Given the description of an element on the screen output the (x, y) to click on. 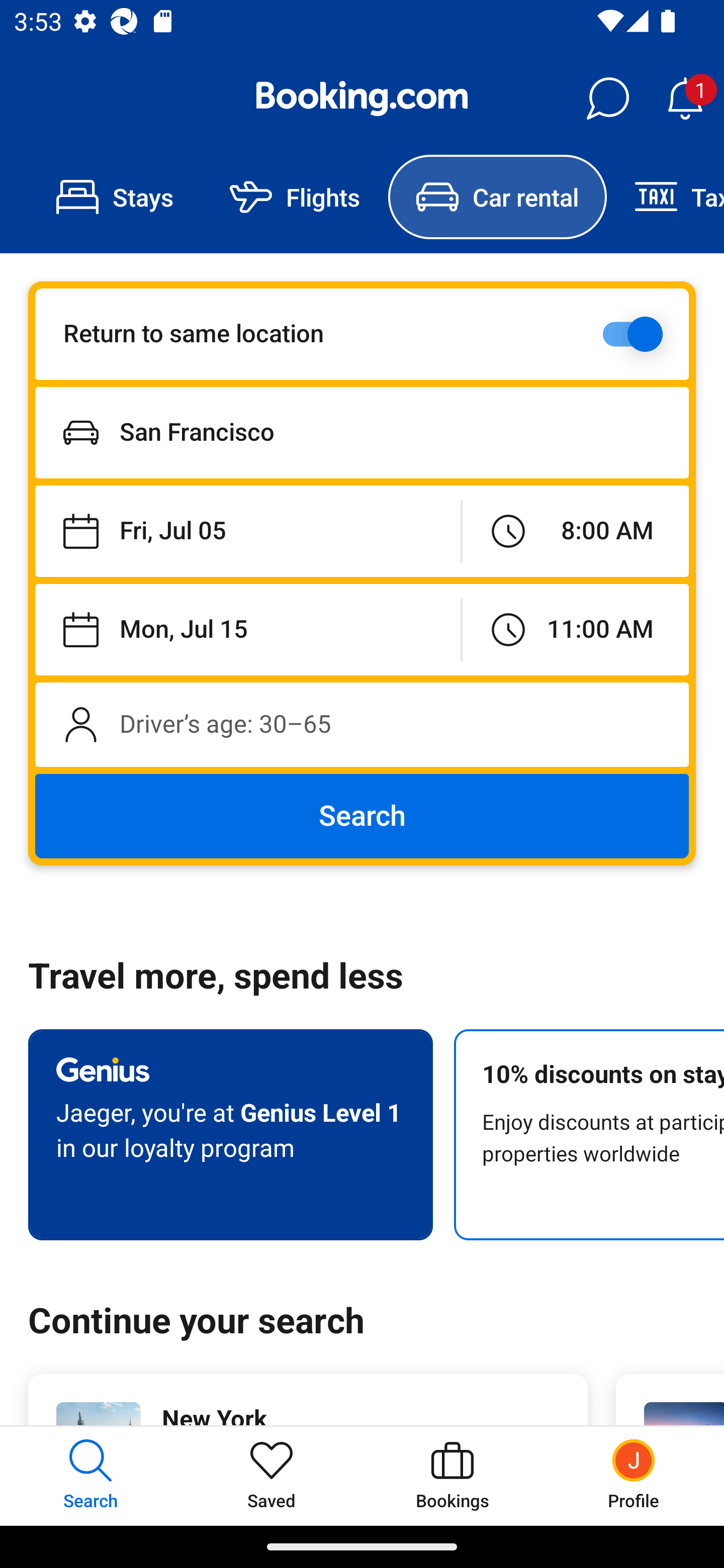
Messages (607, 98)
Notifications (685, 98)
Stays (114, 197)
Flights (294, 197)
Car rental (497, 197)
Taxi (665, 197)
Pick-up location: Text(name=San Francisco) (361, 432)
Pick-up date: 2024-07-05 (247, 531)
Pick-up time: 08:00:00.000 (575, 531)
Drop-off date: 2024-07-15 (247, 629)
Drop-off time: 11:00:00.000 (575, 629)
Enter the driver's age (361, 724)
Search (361, 815)
Saved (271, 1475)
Bookings (452, 1475)
Profile (633, 1475)
